Given the description of an element on the screen output the (x, y) to click on. 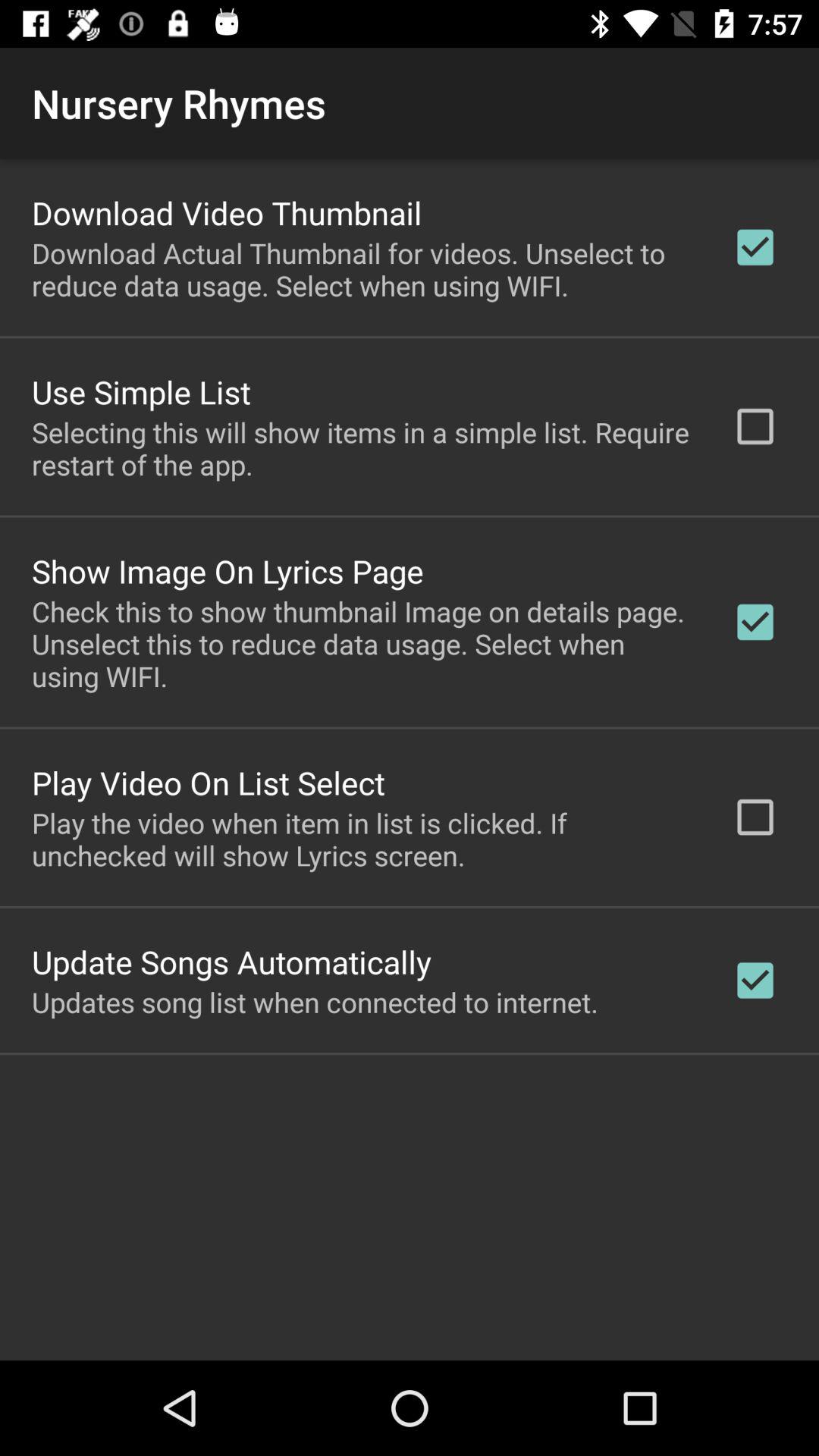
launch item below the play the video icon (231, 961)
